Given the description of an element on the screen output the (x, y) to click on. 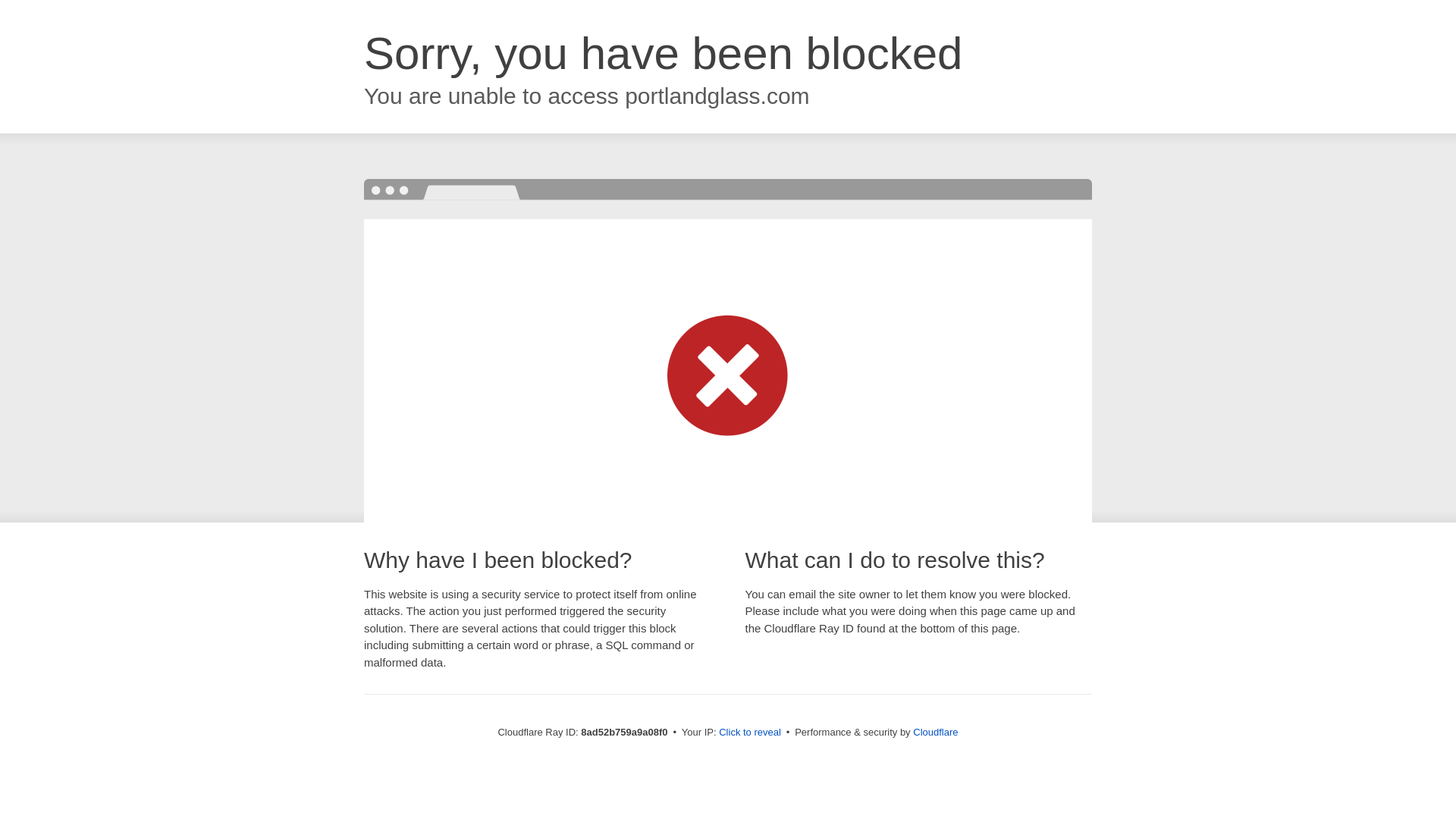
Click to reveal (749, 732)
Cloudflare (935, 731)
